Given the description of an element on the screen output the (x, y) to click on. 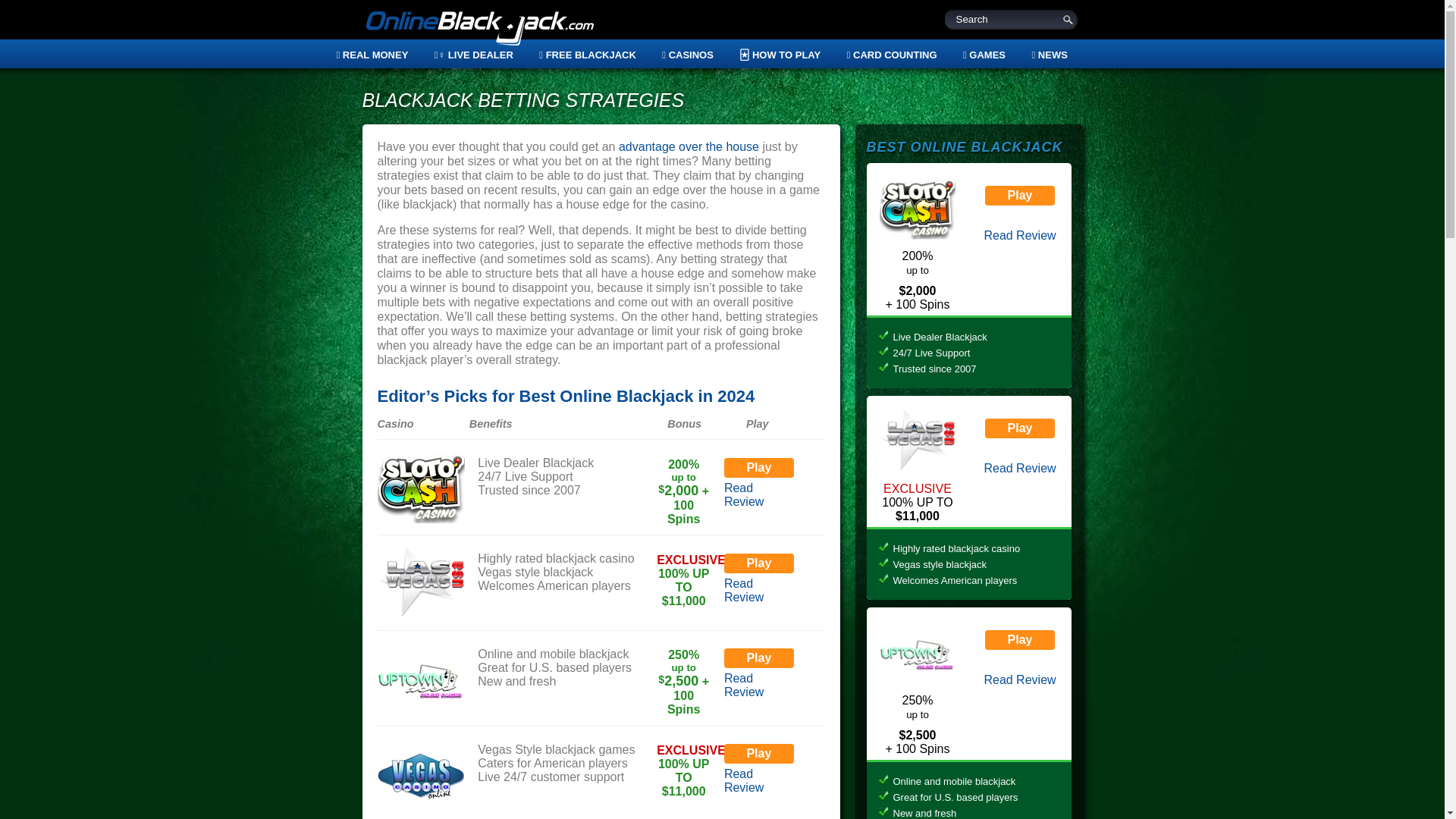
Online Blackjack (478, 30)
Search (1011, 19)
Play our free blackjack game (587, 54)
Where to play online blackjack for real money (378, 54)
Sloto'Cash Casino (420, 487)
Latest blackjack news (1043, 54)
Las Vegas USA Casino (420, 583)
How to play Blackjack (779, 54)
Online Blackjack (478, 30)
Search (1011, 19)
Learn how to count cards (892, 54)
All about live dealer online blackjack (473, 54)
